Given the description of an element on the screen output the (x, y) to click on. 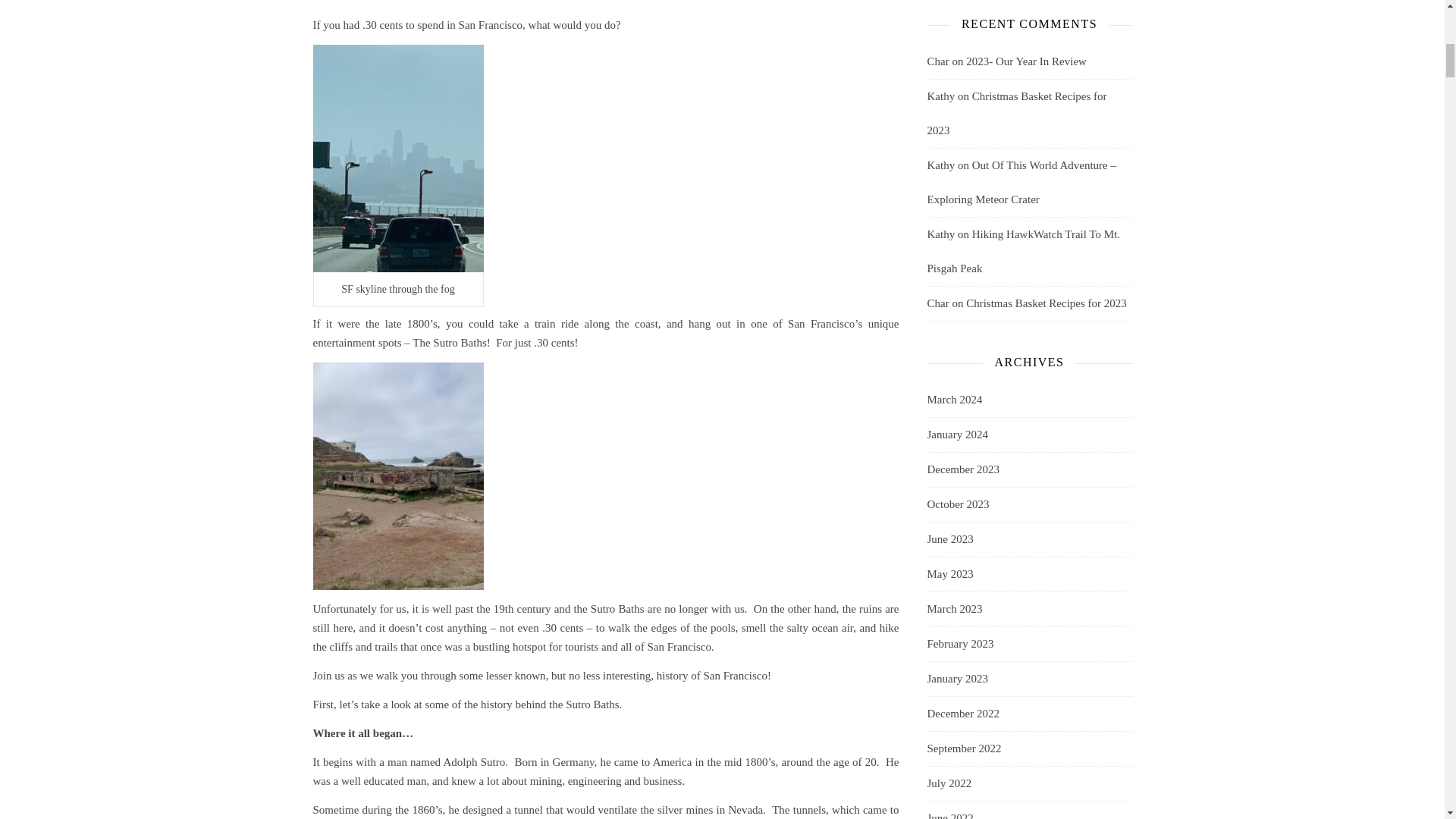
Kathy (940, 96)
2023- Our Year In Review (1026, 61)
Kathy (940, 164)
Christmas Basket Recipes for 2023 (1016, 113)
